Given the description of an element on the screen output the (x, y) to click on. 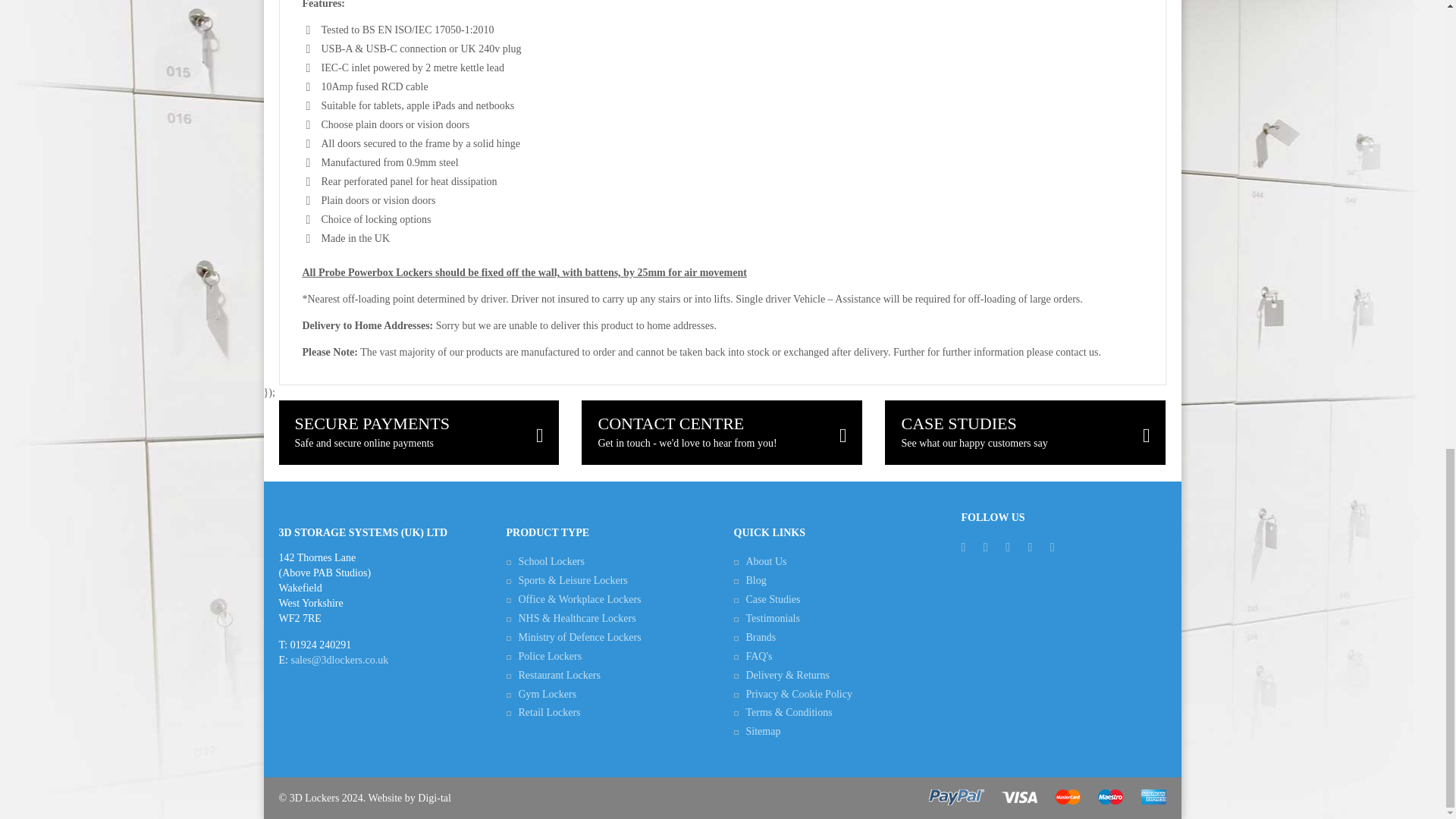
Bespoke Web Development Leeds (434, 797)
